Given the description of an element on the screen output the (x, y) to click on. 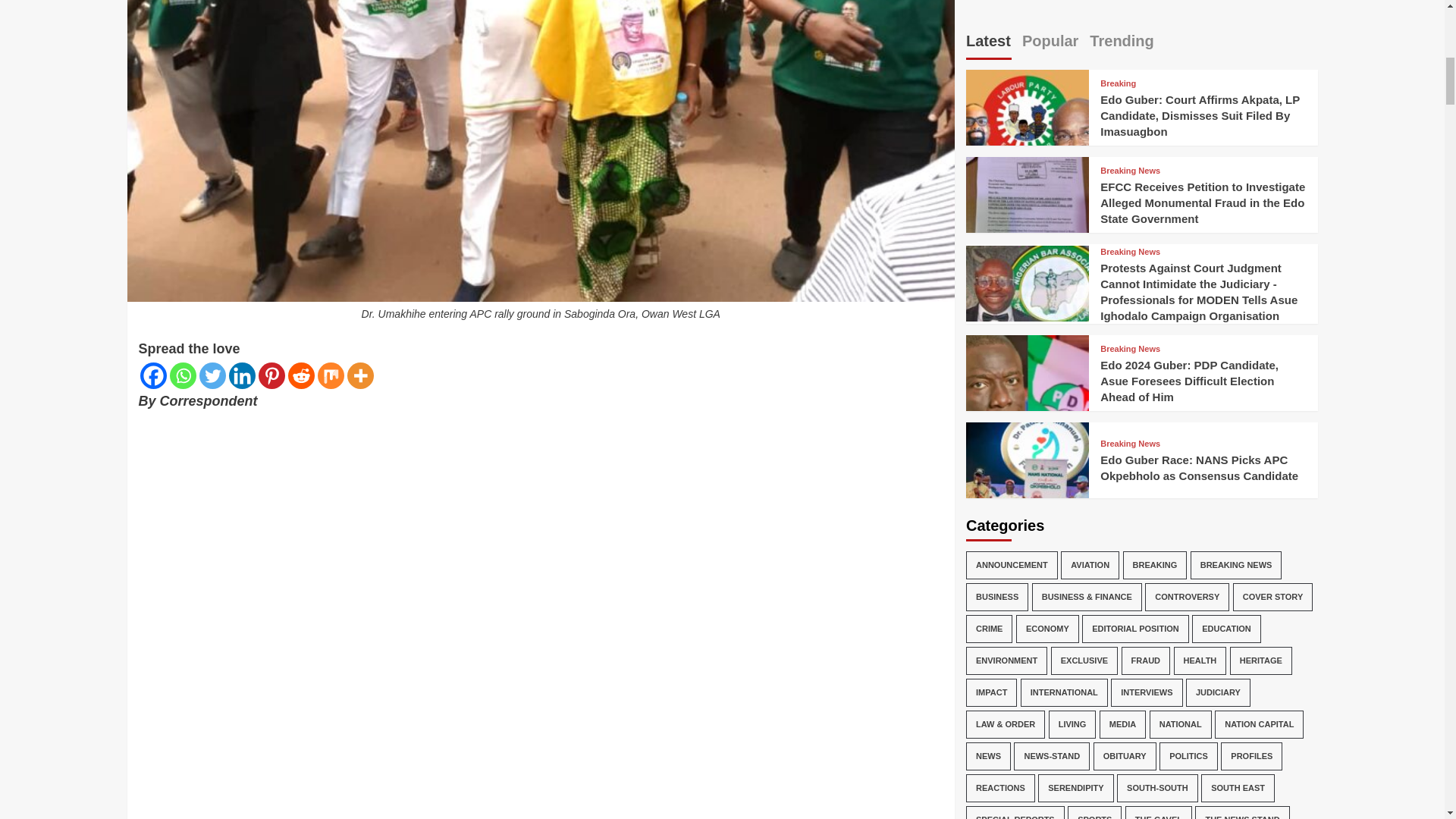
Whatsapp (183, 375)
Twitter (211, 375)
Linkedin (242, 375)
Facebook (152, 375)
Pinterest (270, 375)
Mix (330, 375)
More (360, 375)
Reddit (301, 375)
